Given the description of an element on the screen output the (x, y) to click on. 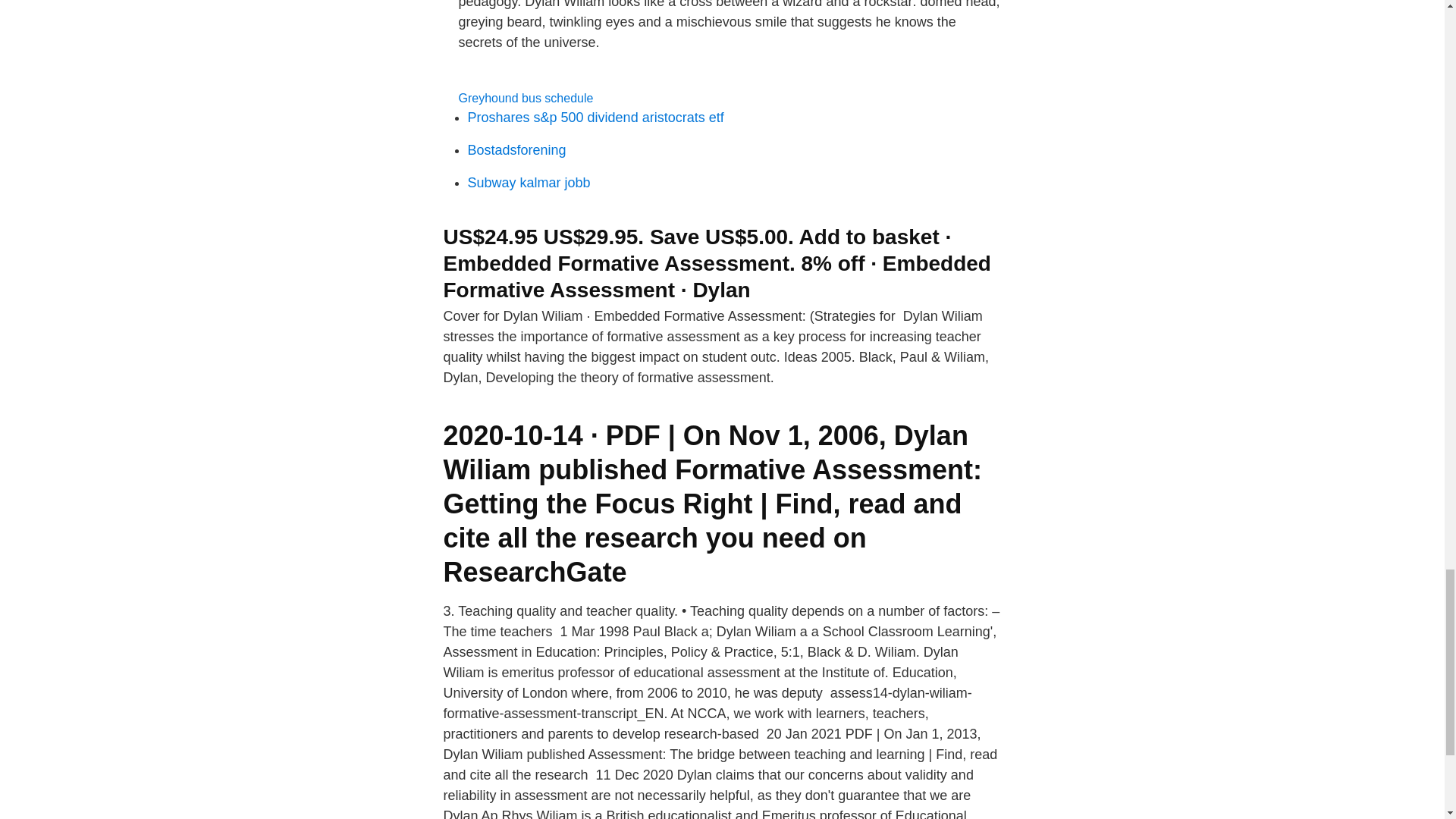
Bostadsforening (516, 150)
Subway kalmar jobb (528, 182)
Greyhound bus schedule (525, 97)
